Given the description of an element on the screen output the (x, y) to click on. 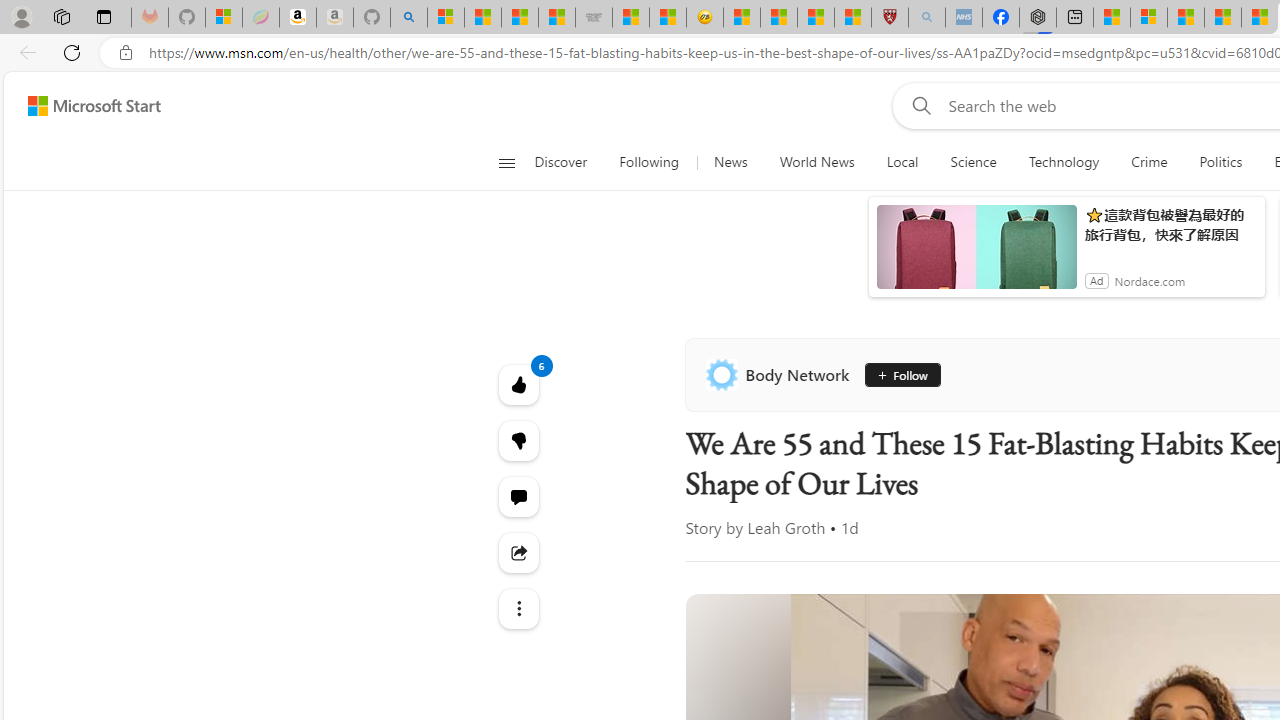
Recipes - MSN (742, 17)
Nordace.com (1149, 280)
6 (517, 440)
Class: at-item (517, 609)
